Given the description of an element on the screen output the (x, y) to click on. 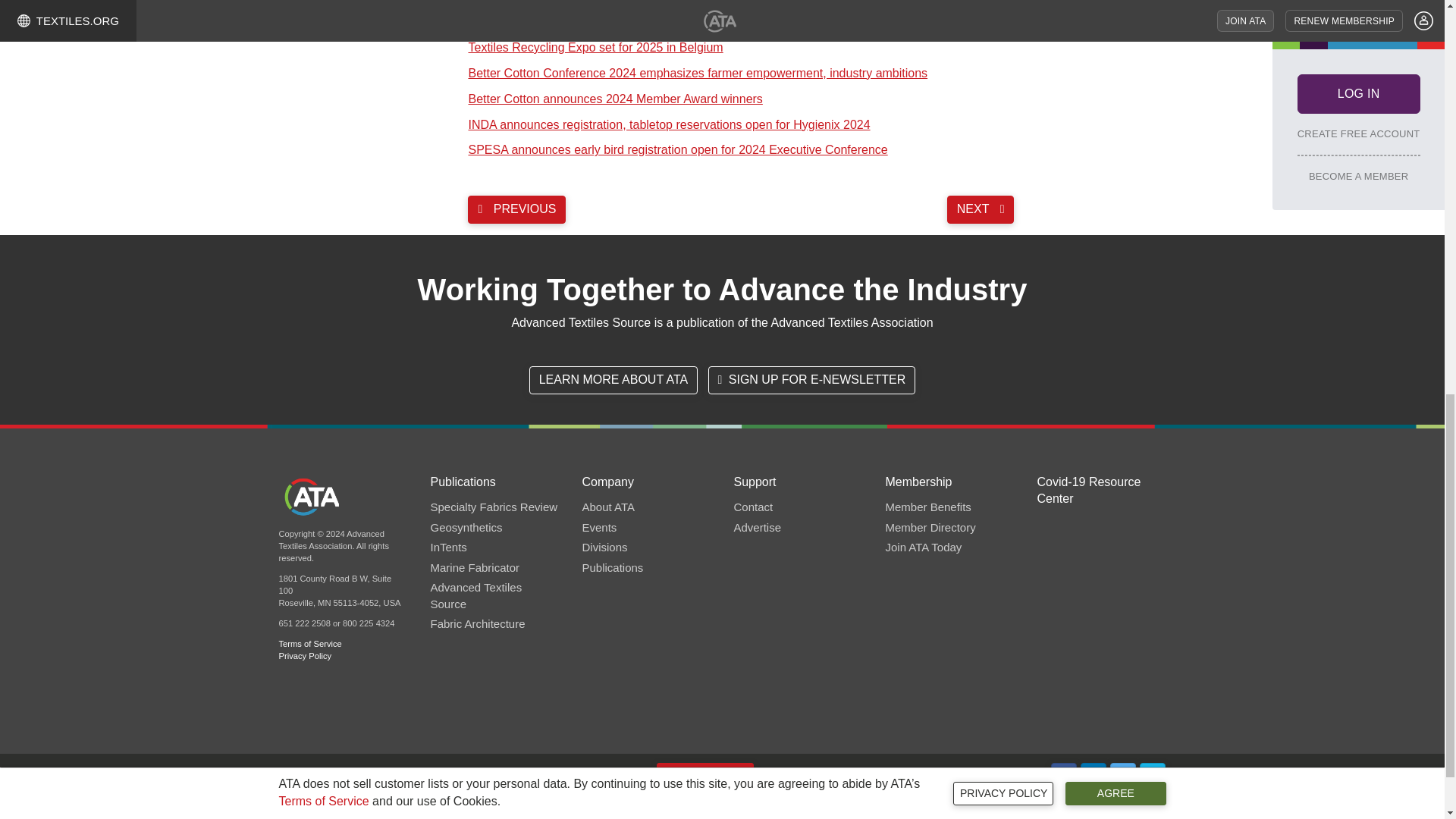
Follow us on Facebook (1064, 776)
Watch us on Vimeo (1153, 776)
Follow us on LinkedIn (1093, 776)
Follow us on Twitter (1123, 776)
3rd party ad content (721, 812)
